Given the description of an element on the screen output the (x, y) to click on. 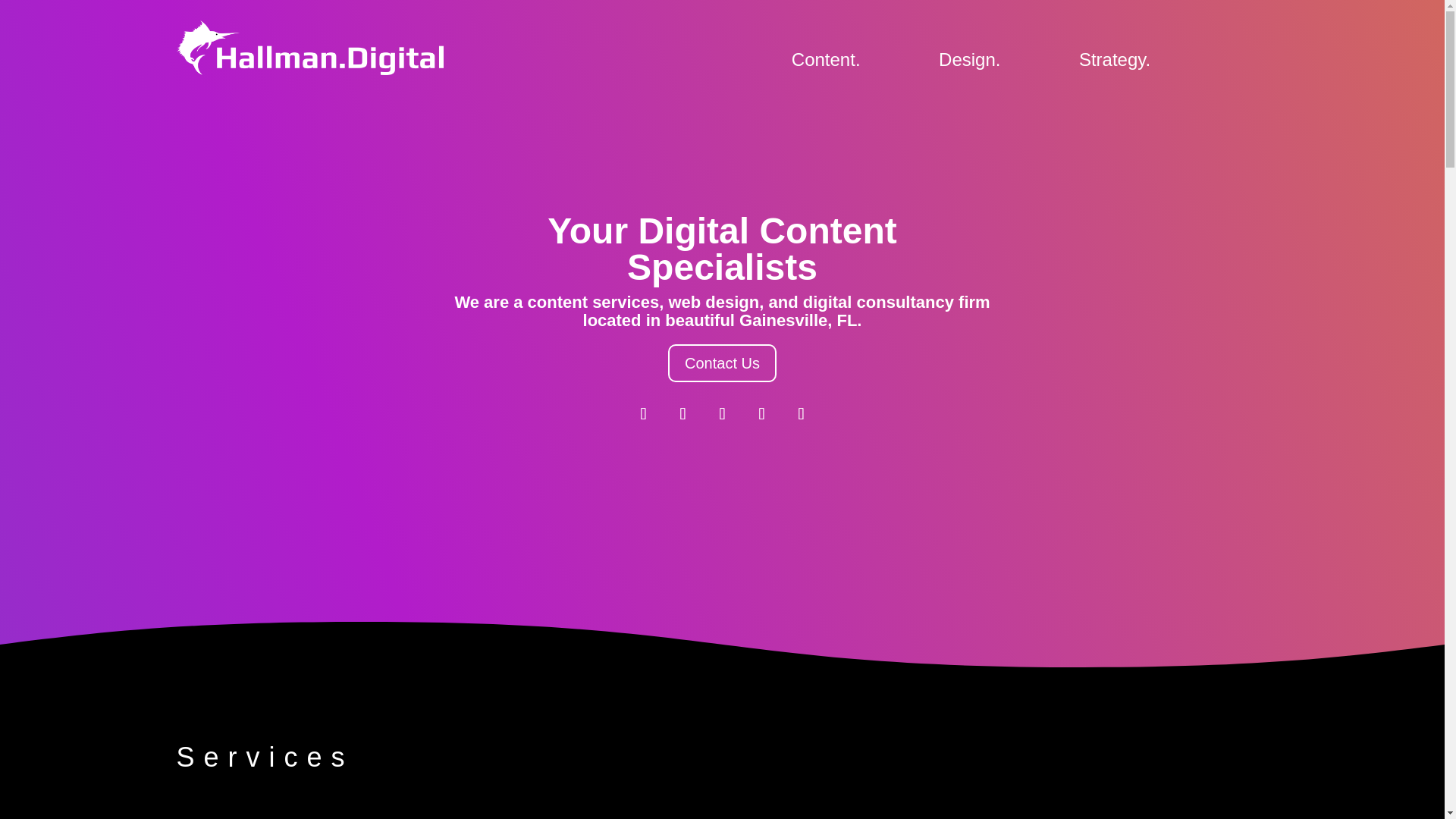
Follow on X (760, 413)
Follow on Instagram (681, 413)
Follow on Facebook (642, 413)
HallmanDigitalHorizontalLogoWhiteFFFDot (309, 47)
Follow on Youtube (800, 413)
Follow on LinkedIn (721, 413)
Contact Us (722, 362)
